Given the description of an element on the screen output the (x, y) to click on. 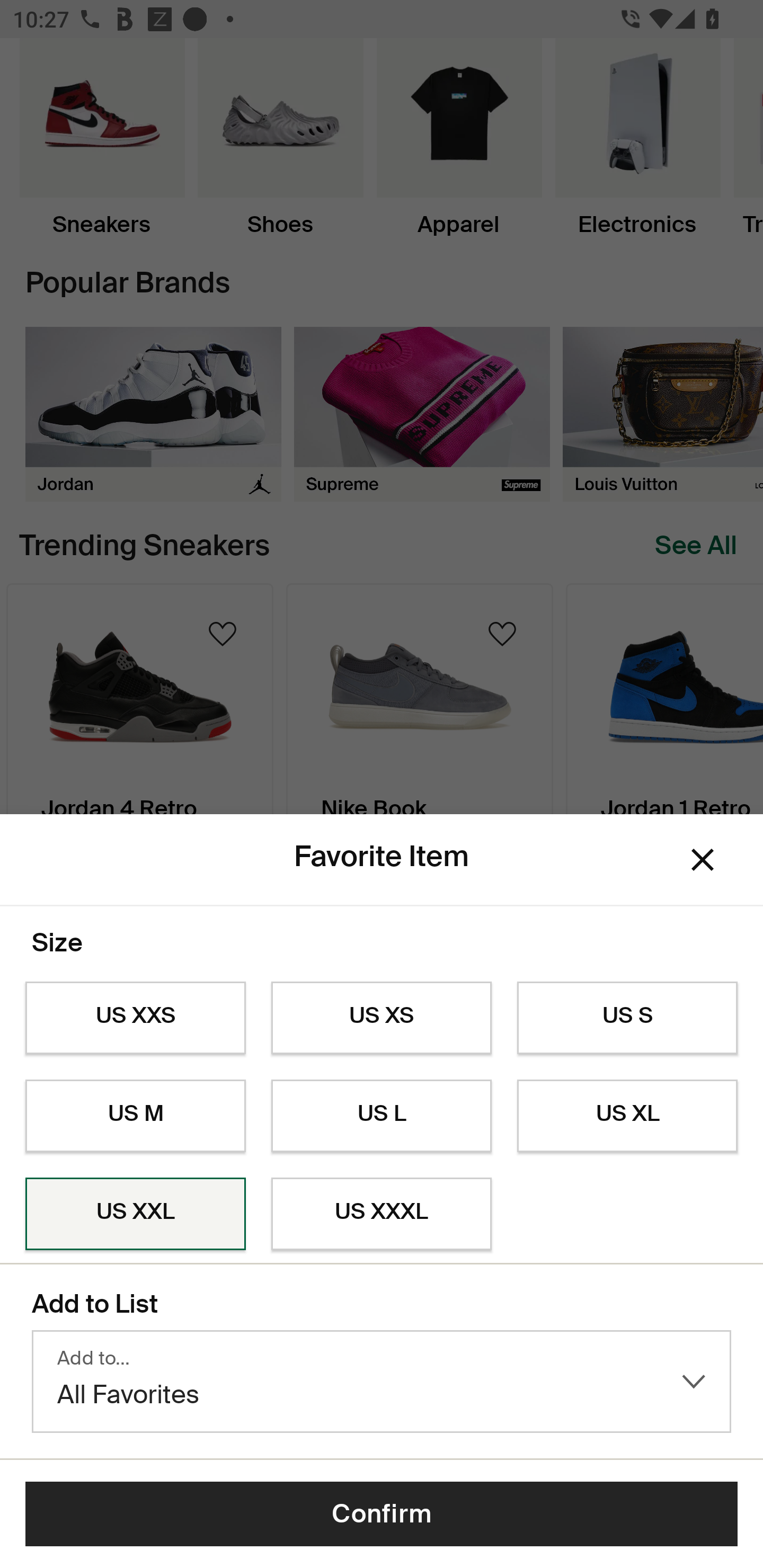
Dismiss (702, 859)
US XXS (135, 1018)
US XS (381, 1018)
US S (627, 1018)
US M (135, 1116)
US L (381, 1116)
US XL (627, 1116)
US XXL (135, 1214)
US XXXL (381, 1214)
Add to… All Favorites (381, 1381)
Confirm (381, 1513)
